Given the description of an element on the screen output the (x, y) to click on. 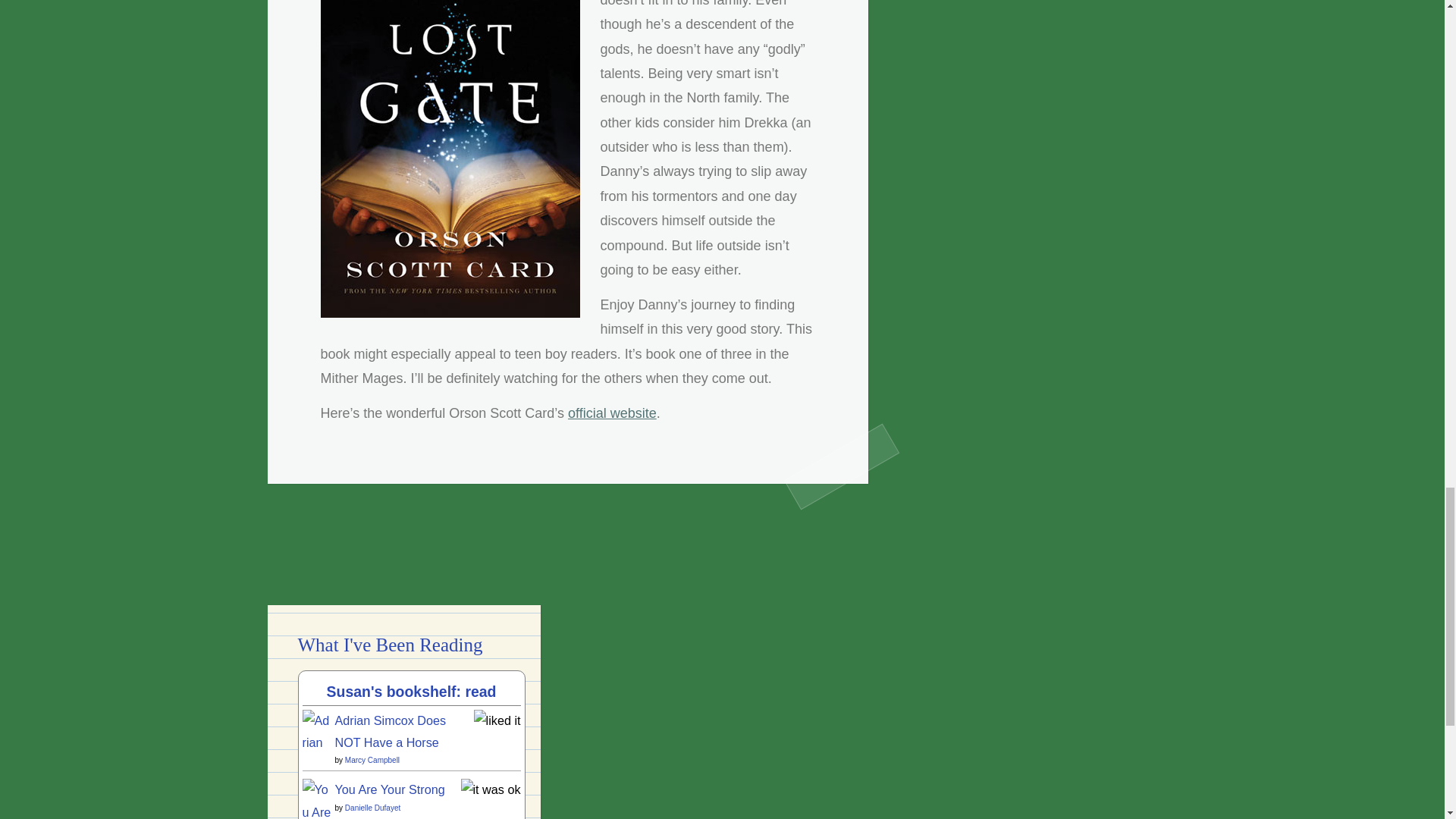
it was ok (491, 789)
liked it (497, 720)
official website (611, 412)
